Given the description of an element on the screen output the (x, y) to click on. 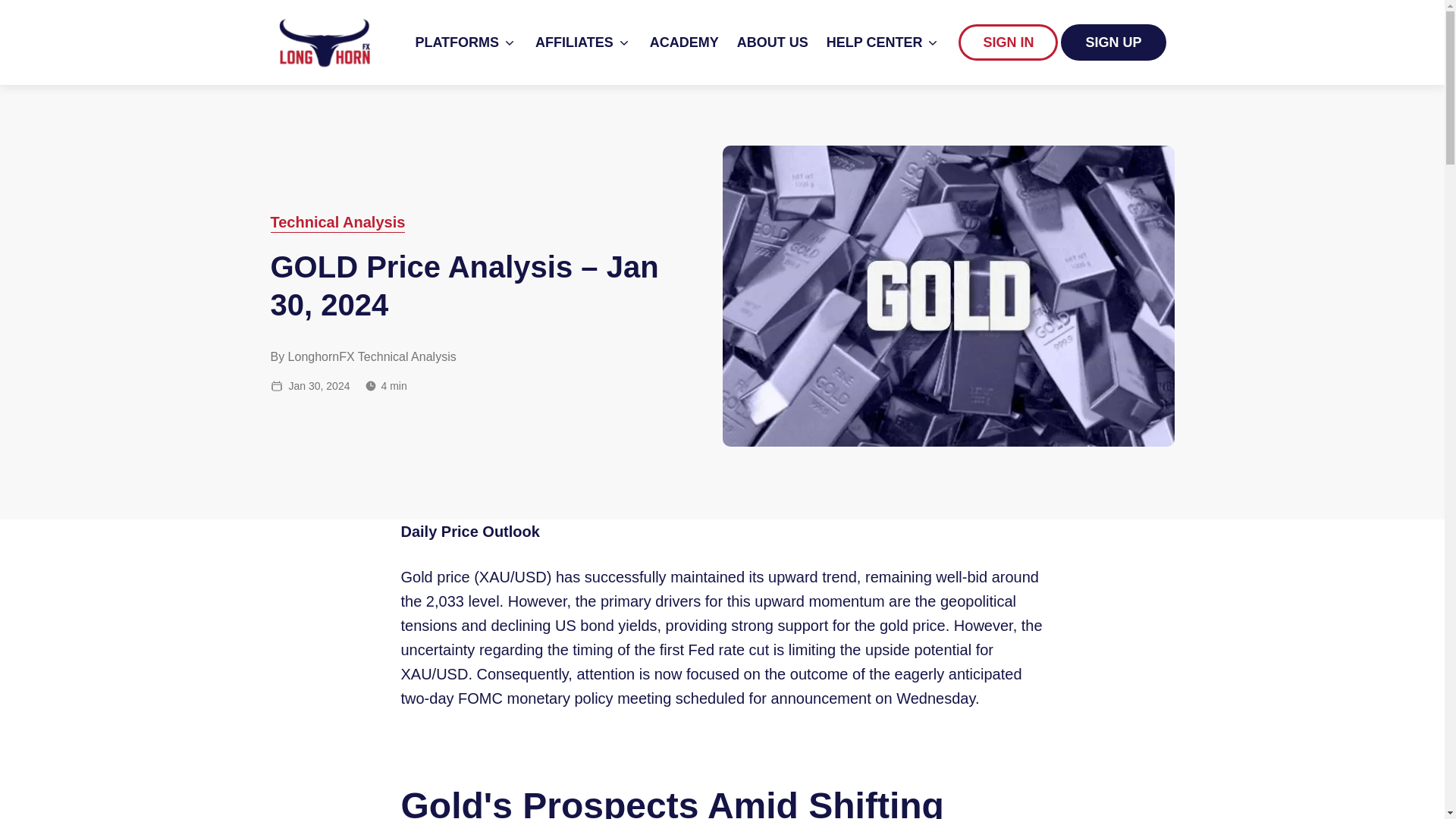
SIGN UP (1113, 42)
PLATFORMS (465, 42)
ACADEMY (684, 42)
Technical Analysis (336, 221)
HELP CENTER (883, 42)
AFFILIATES (583, 42)
SIGN IN (1007, 42)
ABOUT US (772, 42)
SIGN UP (1112, 42)
SIGN IN (1008, 42)
